Given the description of an element on the screen output the (x, y) to click on. 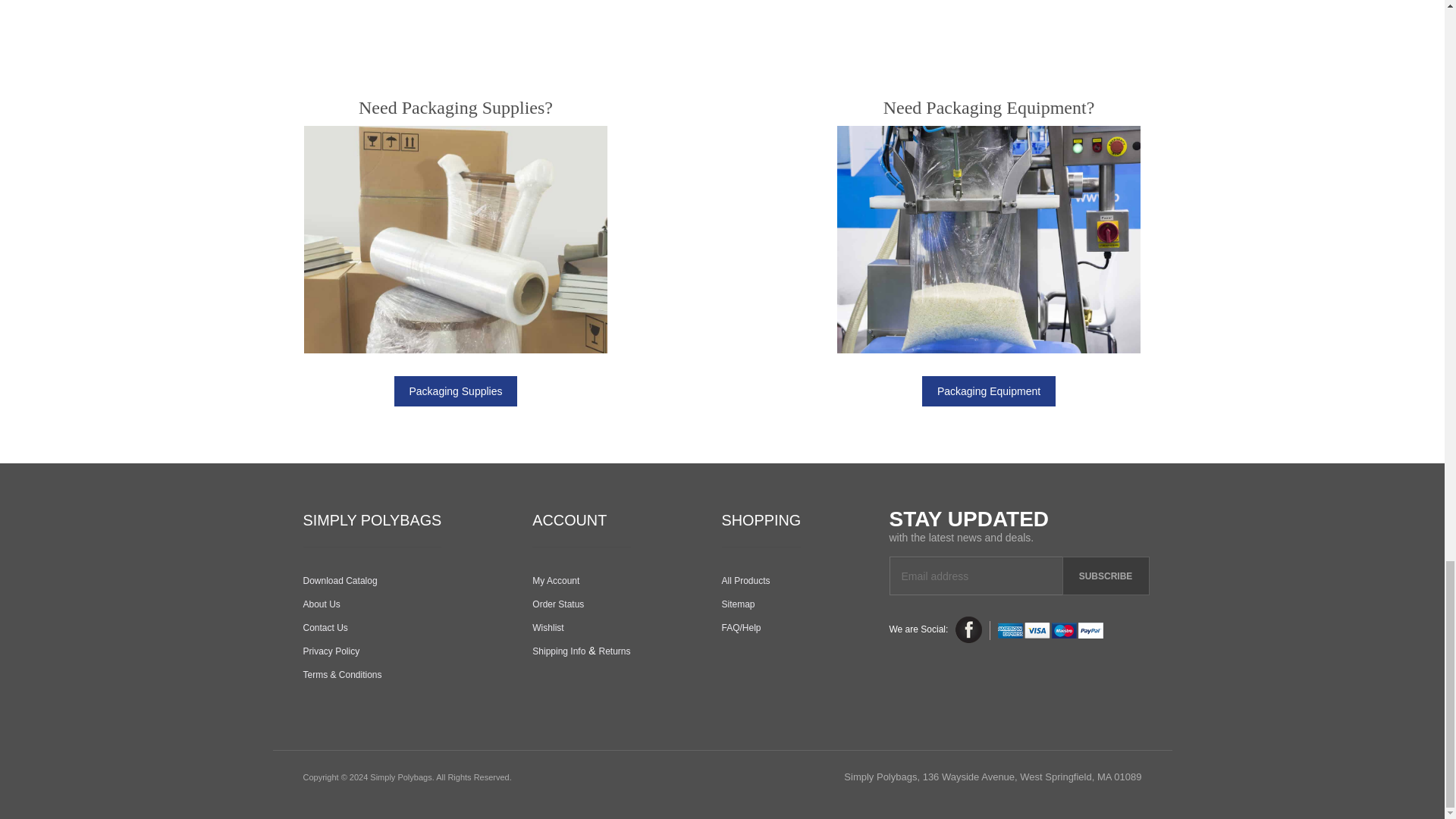
SUBSCRIBE (1104, 575)
